Given the description of an element on the screen output the (x, y) to click on. 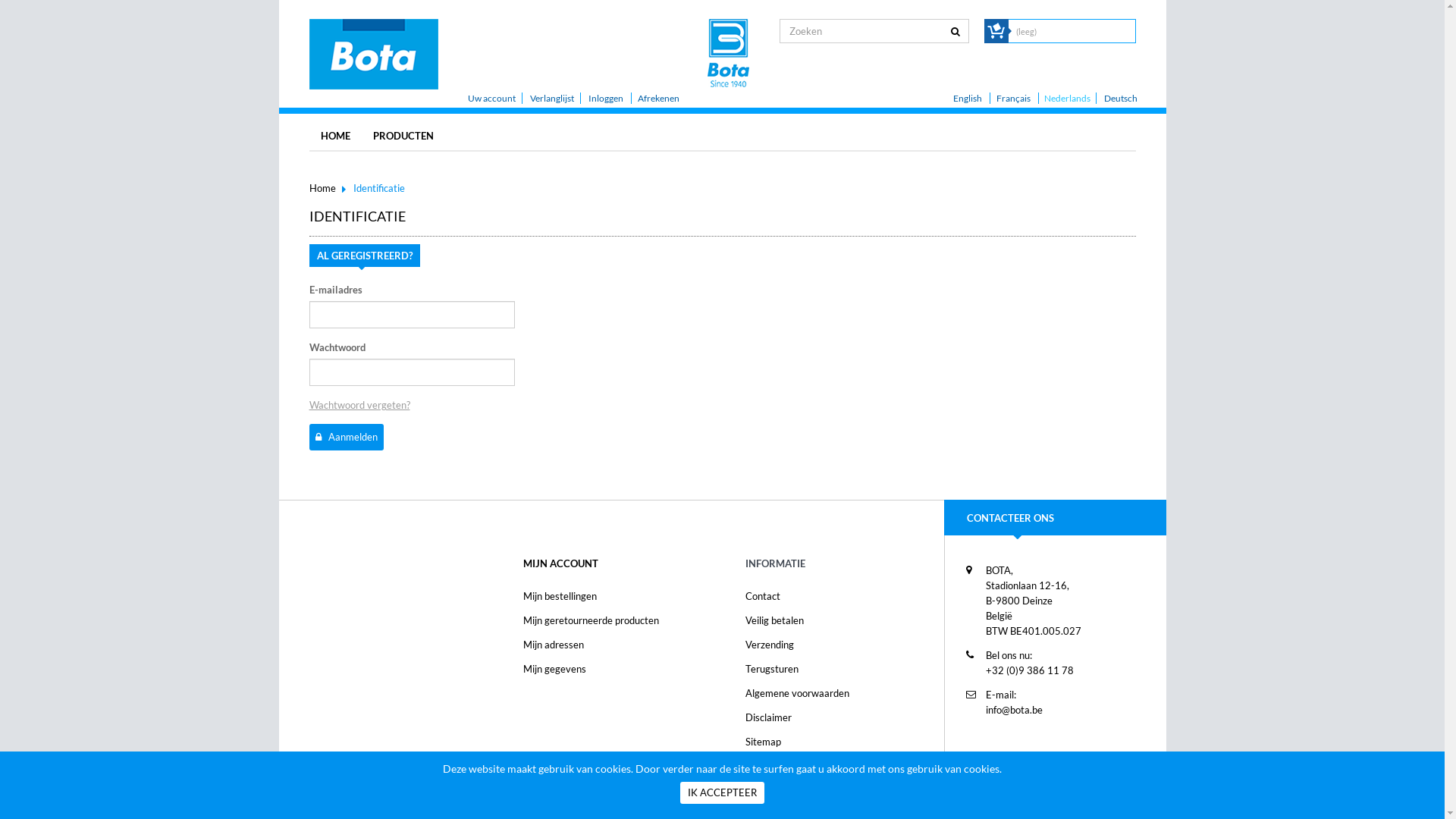
Verzending Element type: text (768, 644)
Home Element type: text (322, 188)
(leeg) Element type: text (1026, 31)
Verlanglijst Element type: text (551, 97)
Veilig betalen Element type: text (773, 620)
Inloggen Element type: text (605, 97)
Algemene voorwaarden Element type: text (796, 693)
Sitemap Element type: text (762, 741)
Afrekenen Element type: text (657, 97)
IK ACCEPTEER Element type: text (722, 792)
info@bota.be Element type: text (1013, 709)
MIJN ACCOUNT Element type: text (560, 563)
Wachtwoord vergeten? Element type: text (359, 404)
Disclaimer Element type: text (767, 717)
HOME Element type: text (335, 135)
Contact Element type: text (761, 595)
English Element type: text (967, 97)
  Aanmelden Element type: text (346, 436)
Bota Element type: hover (373, 53)
Deutsch Element type: text (1120, 97)
Mijn gegevens Element type: text (554, 668)
Terugsturen Element type: text (770, 668)
Mijn geretourneerde producten Element type: text (590, 620)
PRODUCTEN Element type: text (402, 135)
Mijn bestellingen Element type: text (559, 595)
Mijn adressen Element type: text (553, 644)
Uw account Element type: text (490, 97)
